Given the description of an element on the screen output the (x, y) to click on. 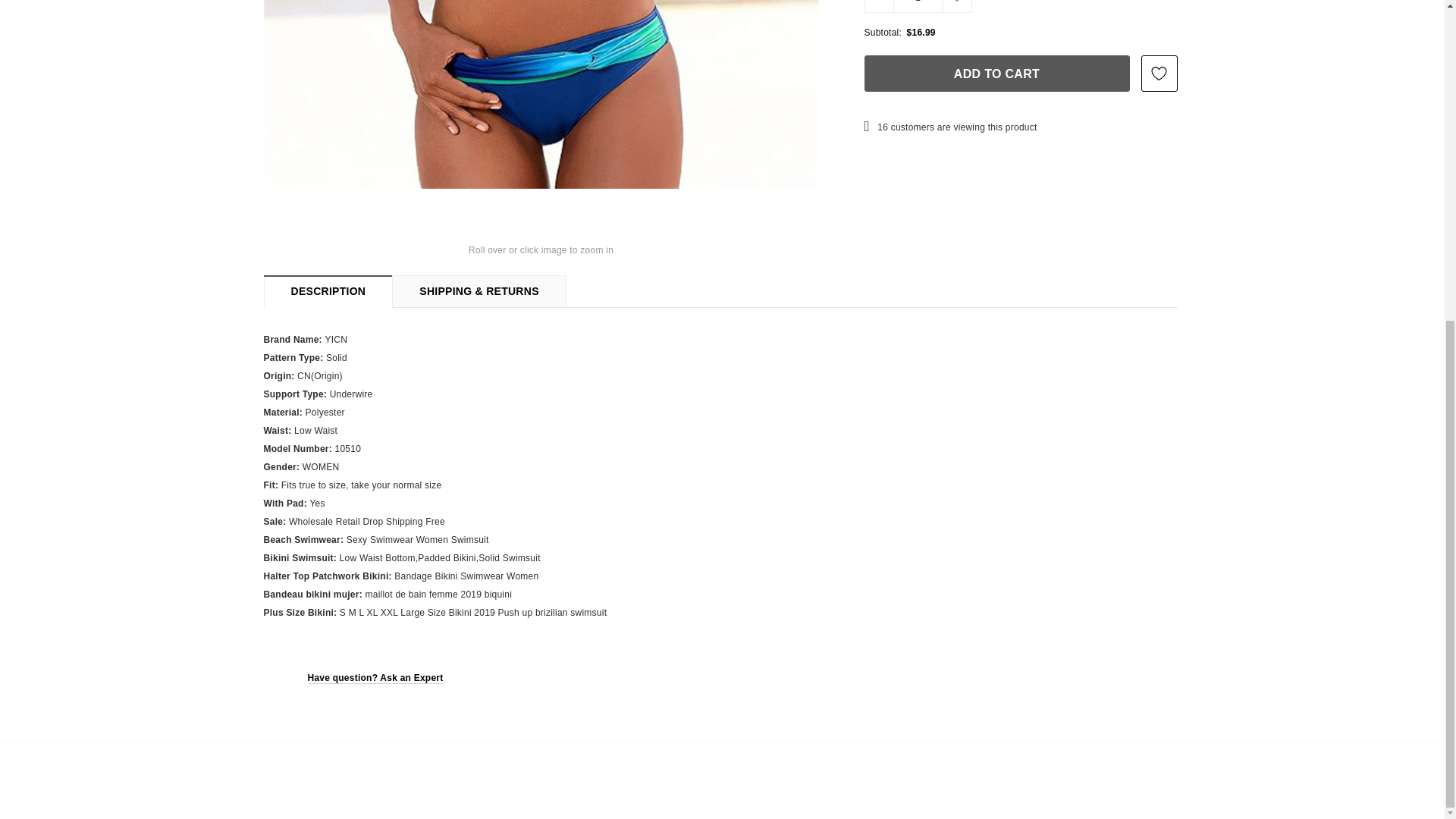
Add to Cart (996, 73)
1 (917, 4)
